Given the description of an element on the screen output the (x, y) to click on. 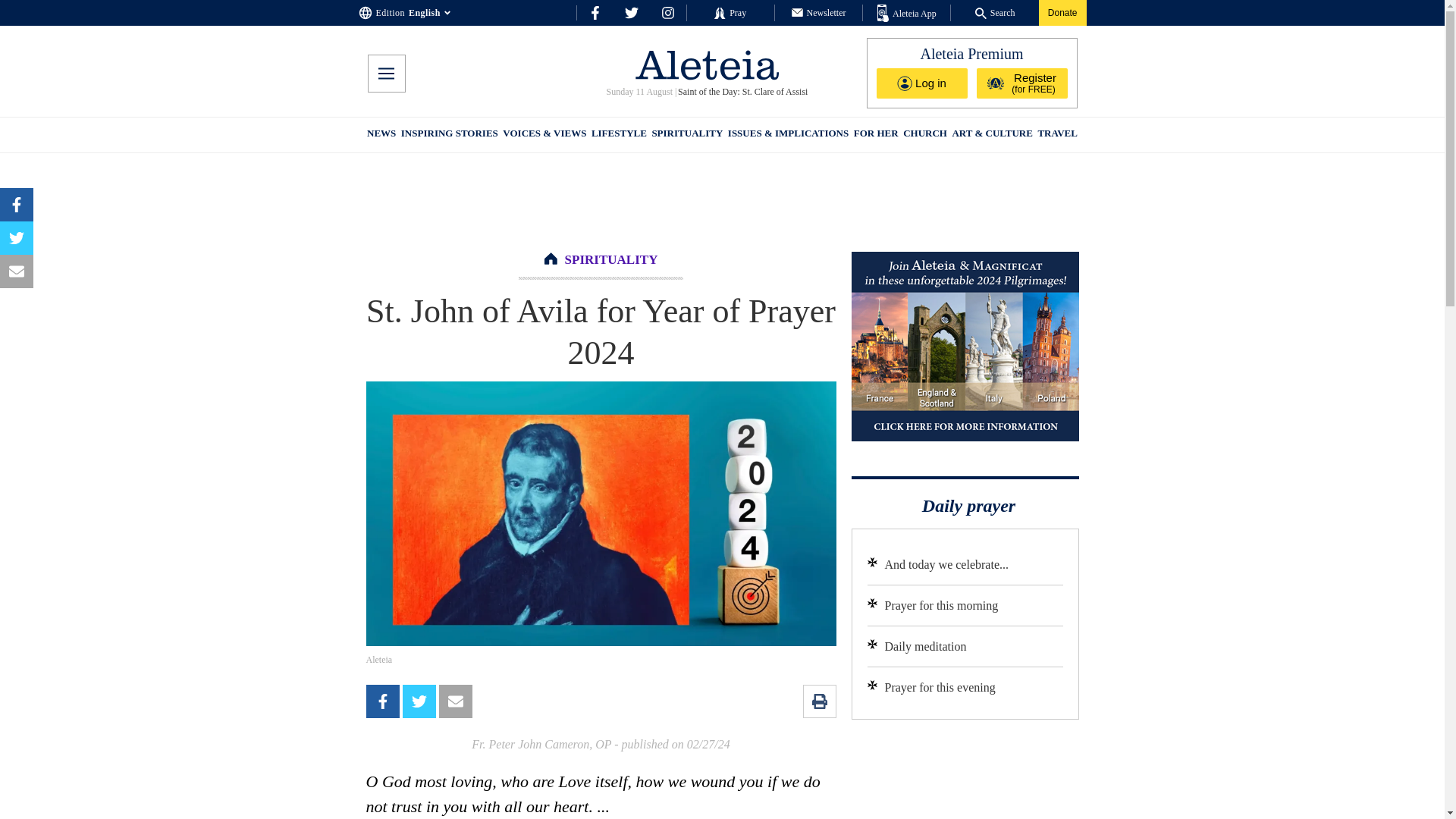
INSPIRING STORIES (449, 134)
Log in (922, 82)
social-tw-top-row (631, 12)
FOR HER (875, 134)
LIFESTYLE (618, 134)
SPIRITUALITY (611, 259)
Aleteia App (906, 13)
CHURCH (924, 134)
Search (994, 12)
Pray (729, 12)
